Given the description of an element on the screen output the (x, y) to click on. 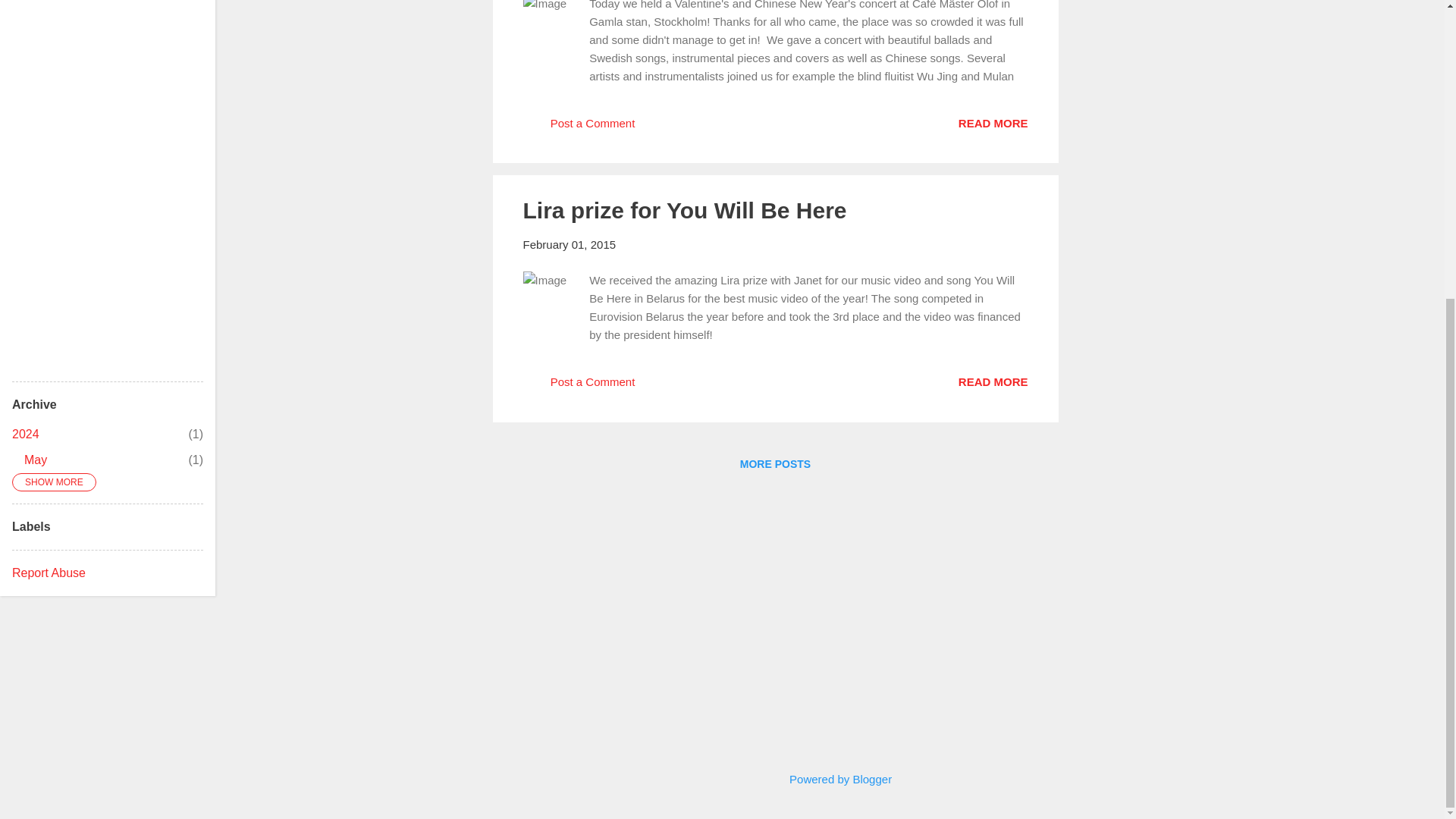
Post a Comment (578, 128)
Lira prize for You Will Be Here (684, 210)
READ MORE (992, 381)
February 01, 2015 (568, 244)
Powered by Blogger (829, 779)
MORE POSTS (774, 463)
Post a Comment (578, 386)
Valentine's and Chinese New Year's concert (25, 433)
READ MORE (992, 122)
